Given the description of an element on the screen output the (x, y) to click on. 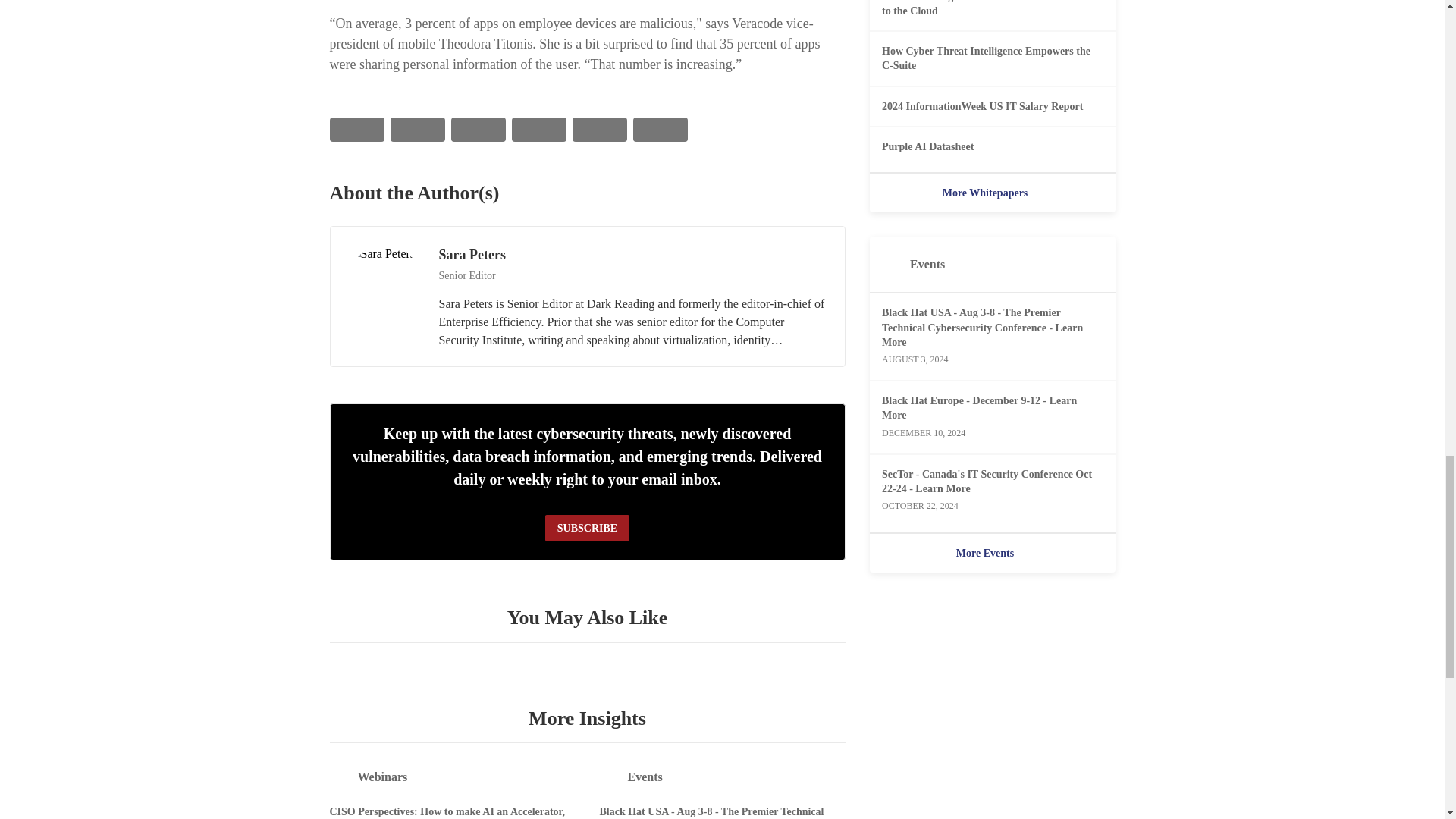
Sara Peters (384, 280)
